Given the description of an element on the screen output the (x, y) to click on. 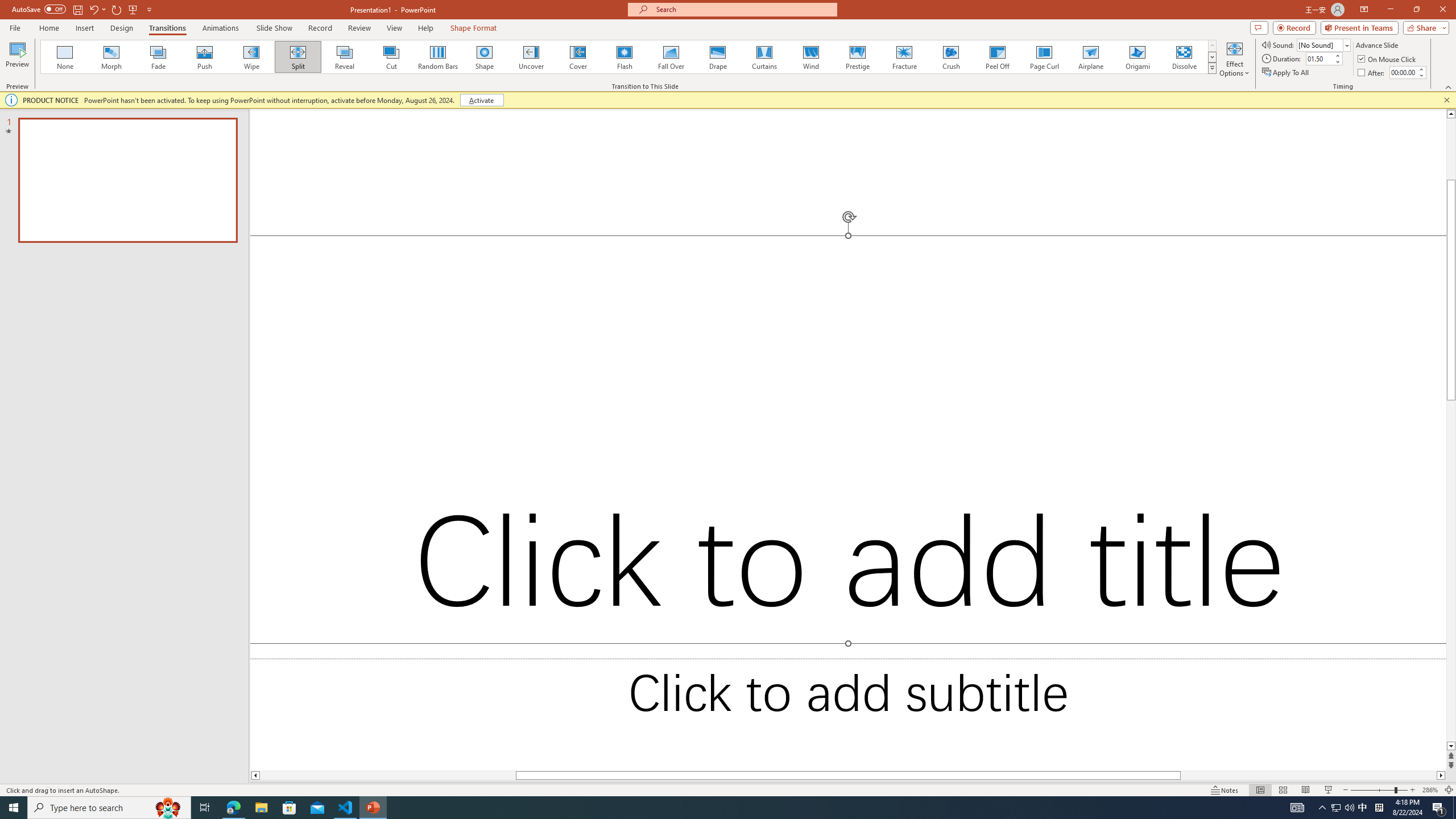
Fracture (903, 56)
Apply To All (1286, 72)
Split (298, 56)
Uncover (531, 56)
Flash (624, 56)
Wind (810, 56)
